Given the description of an element on the screen output the (x, y) to click on. 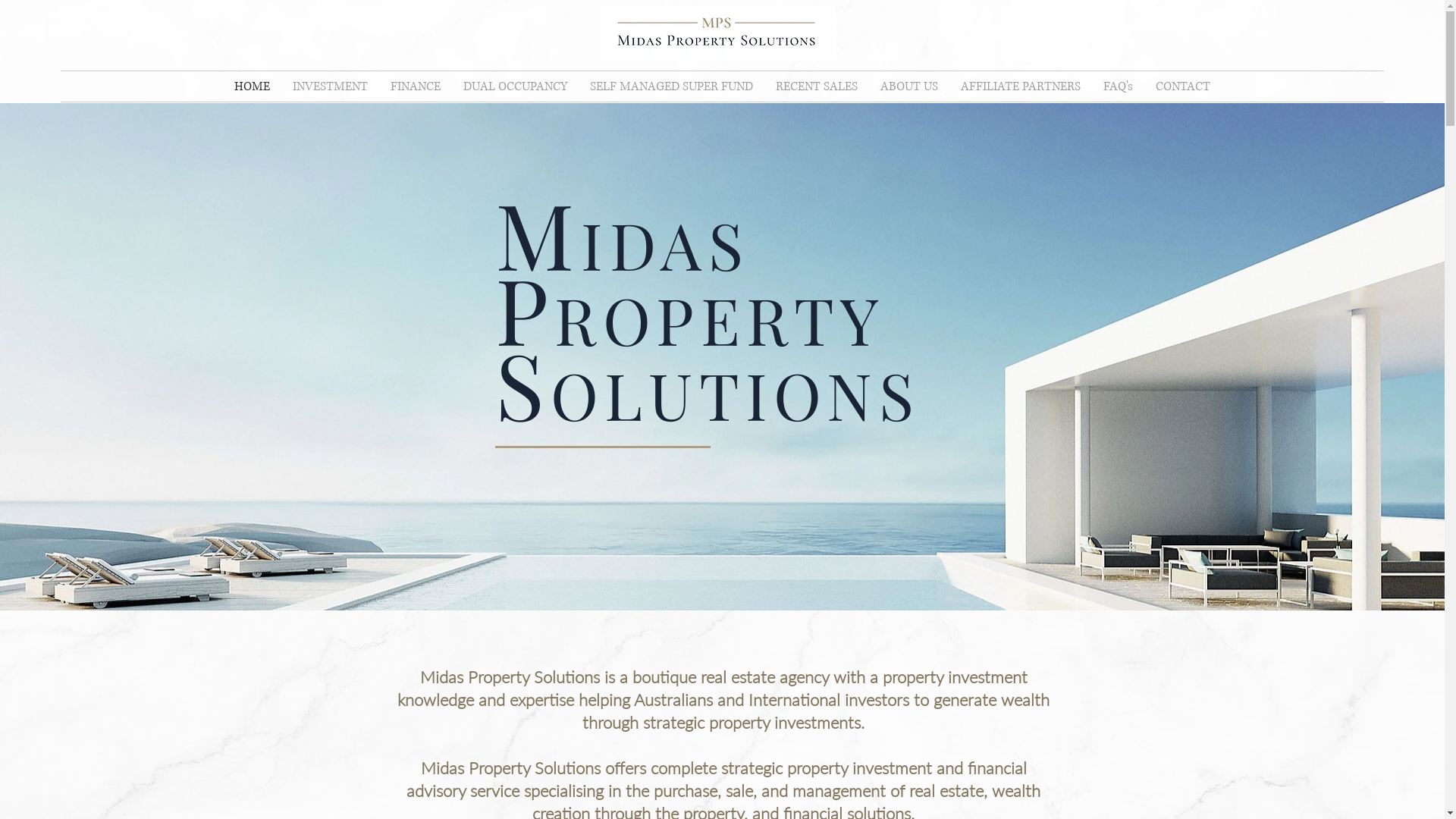
INVESTMENT Element type: text (330, 86)
HOME Element type: text (251, 86)
DUAL OCCUPANCY Element type: text (514, 86)
ABOUT US Element type: text (909, 86)
RECENT SALES Element type: text (816, 86)
SELF MANAGED SUPER FUND Element type: text (671, 86)
FINANCE Element type: text (415, 86)
AFFILIATE PARTNERS Element type: text (1020, 86)
FAQ's Element type: text (1118, 86)
CONTACT Element type: text (1182, 86)
